Given the description of an element on the screen output the (x, y) to click on. 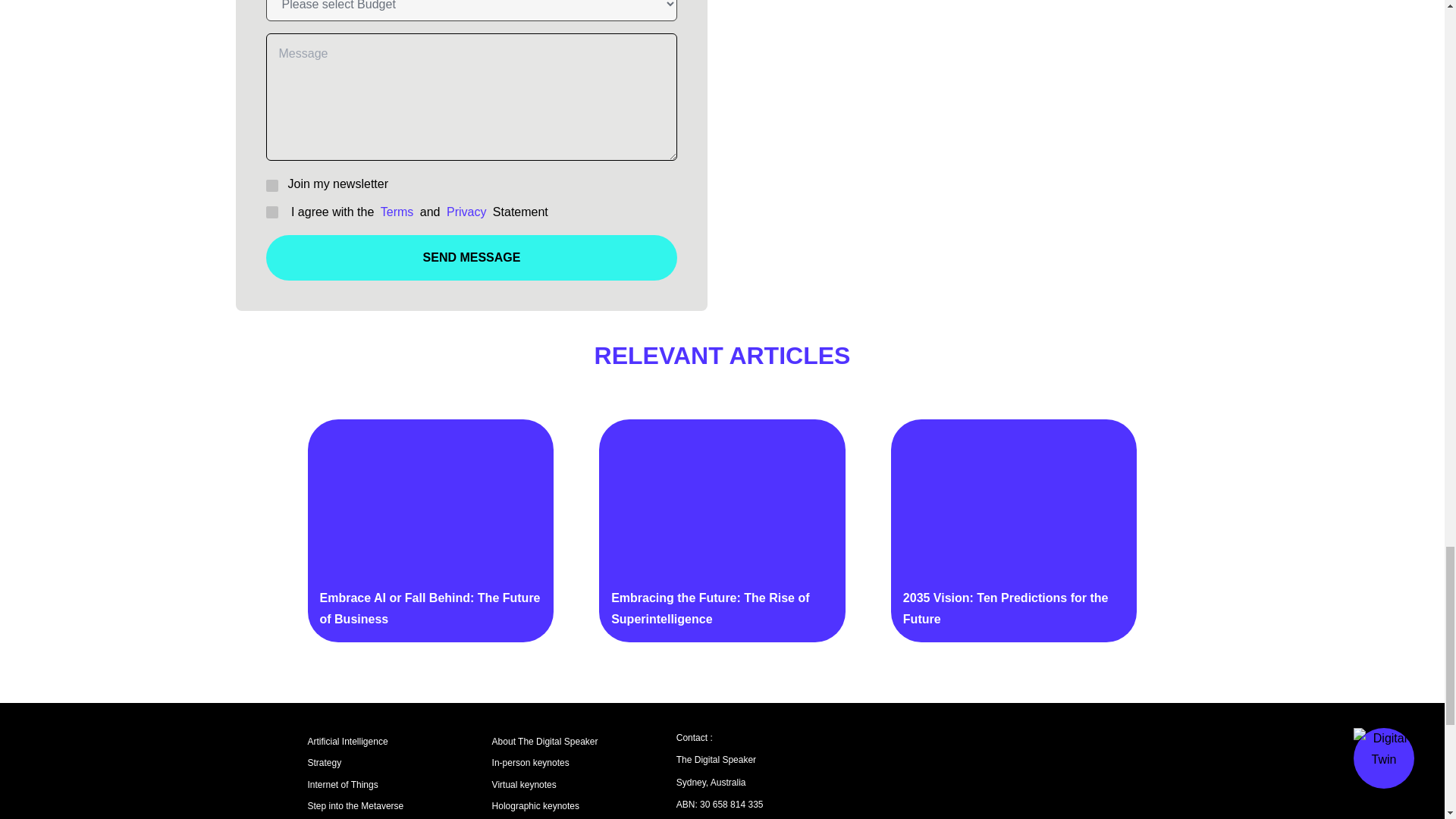
No (269, 184)
Yes (269, 211)
